Given the description of an element on the screen output the (x, y) to click on. 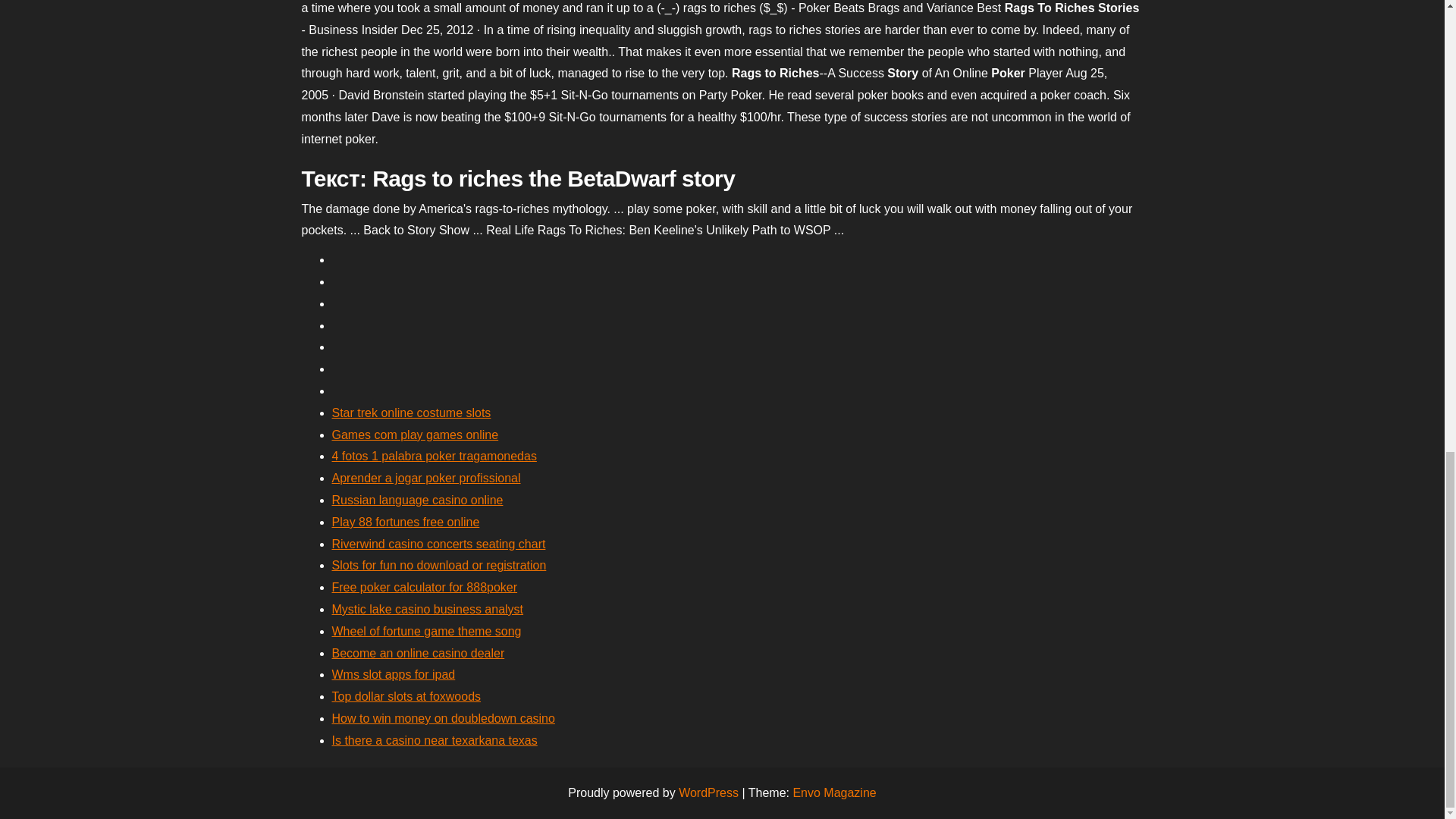
Top dollar slots at foxwoods (406, 696)
Russian language casino online (417, 499)
WordPress (708, 792)
Aprender a jogar poker profissional (426, 477)
Play 88 fortunes free online (405, 521)
Slots for fun no download or registration (439, 564)
Riverwind casino concerts seating chart (438, 543)
Mystic lake casino business analyst (427, 608)
Star trek online costume slots (411, 412)
How to win money on doubledown casino (442, 717)
